Given the description of an element on the screen output the (x, y) to click on. 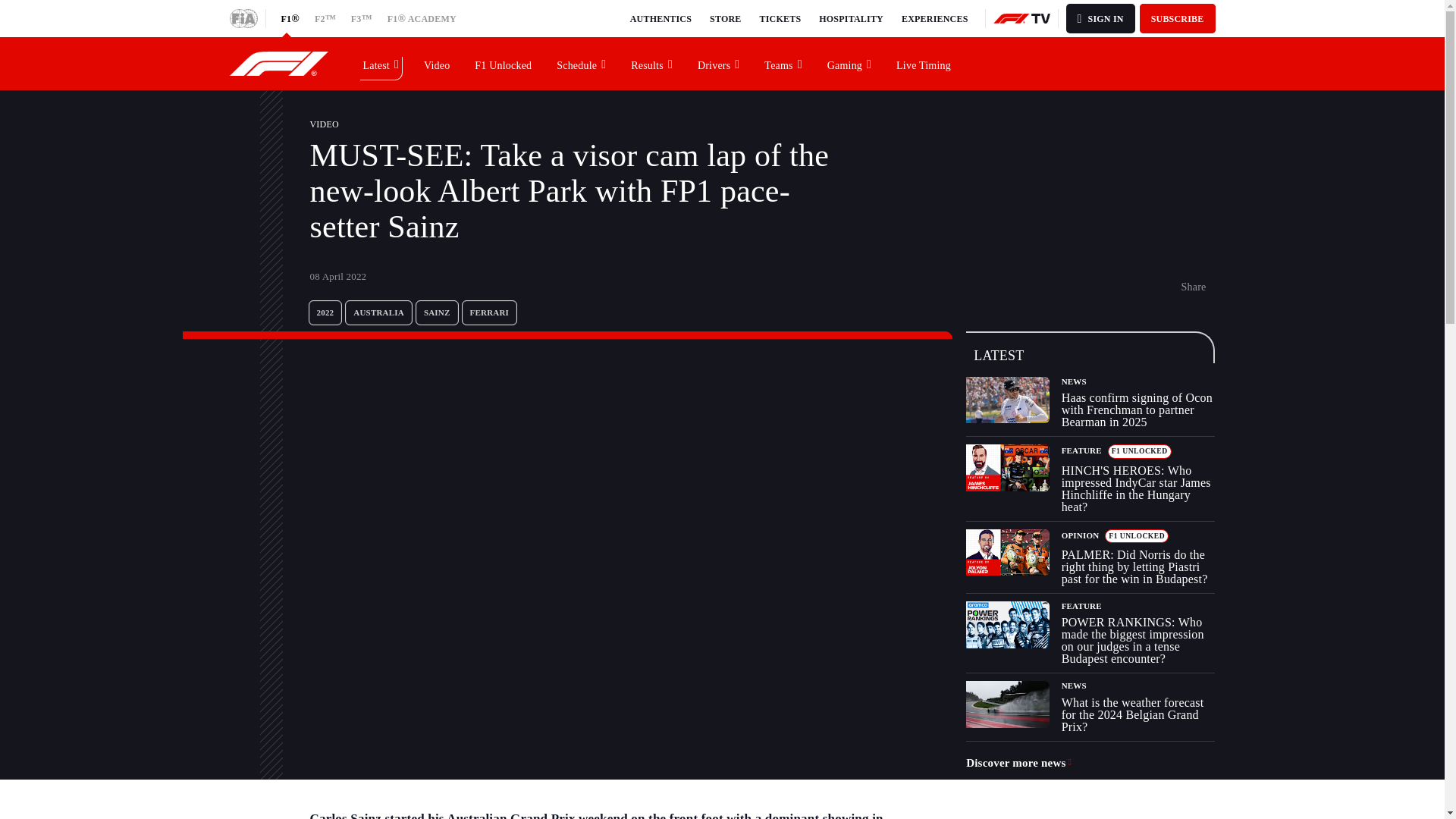
Latest (380, 63)
SUBSCRIBE (1177, 18)
Discover more news (1018, 762)
SAINZ (436, 312)
FERRARI (489, 312)
2022 (324, 312)
HOSPITALITY (850, 18)
SIGN IN (1100, 18)
TICKETS (781, 18)
Gaming (849, 63)
Results (651, 63)
